Given the description of an element on the screen output the (x, y) to click on. 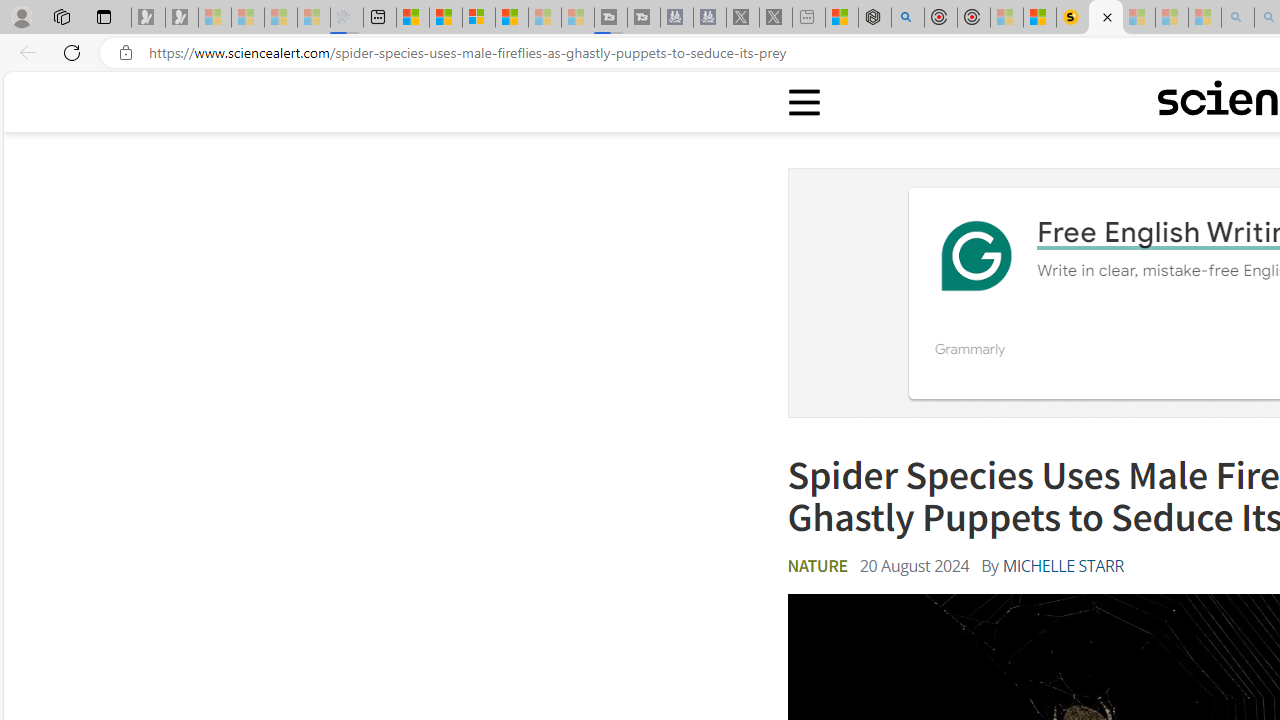
Class: sciencealert-menu-desktop-svg  (803, 102)
